Given the description of an element on the screen output the (x, y) to click on. 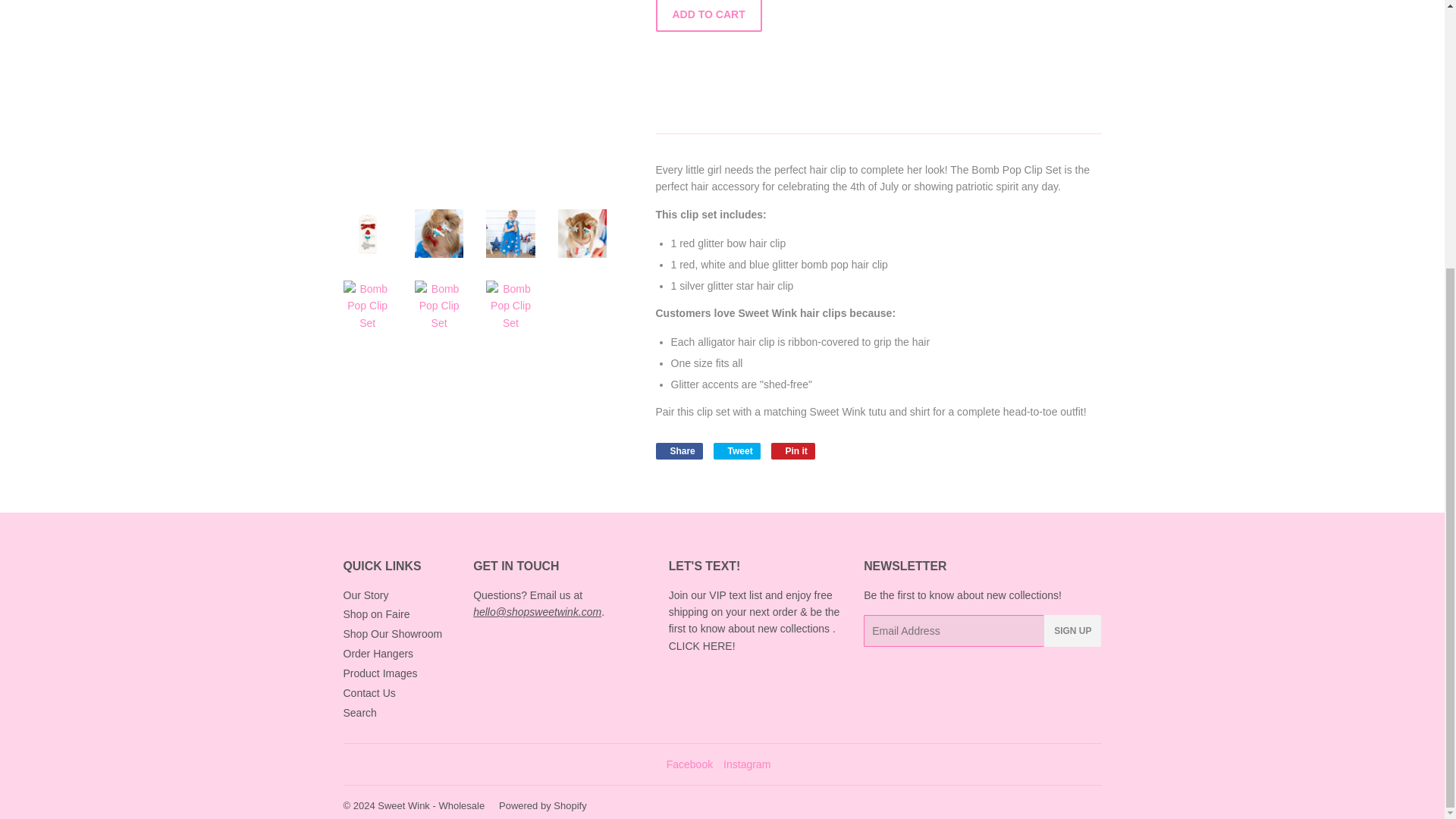
Tweet on Twitter (736, 451)
Sweet Wink - Wholesale on Facebook (689, 764)
Sweet Wink - Wholesale on Instagram (746, 764)
Share on Facebook (678, 451)
Pin on Pinterest (793, 451)
